Given the description of an element on the screen output the (x, y) to click on. 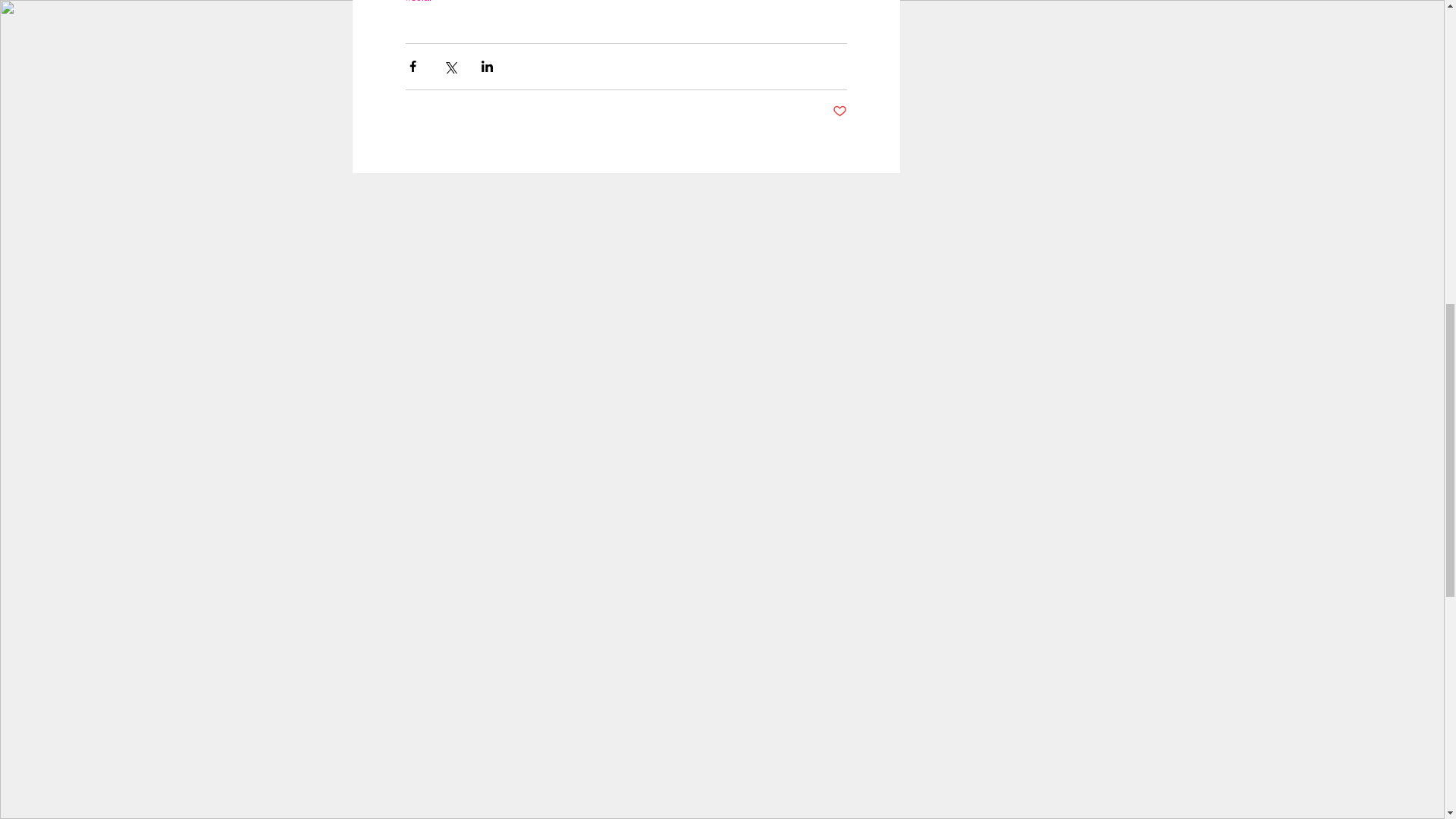
Post not marked as liked (839, 110)
